Given the description of an element on the screen output the (x, y) to click on. 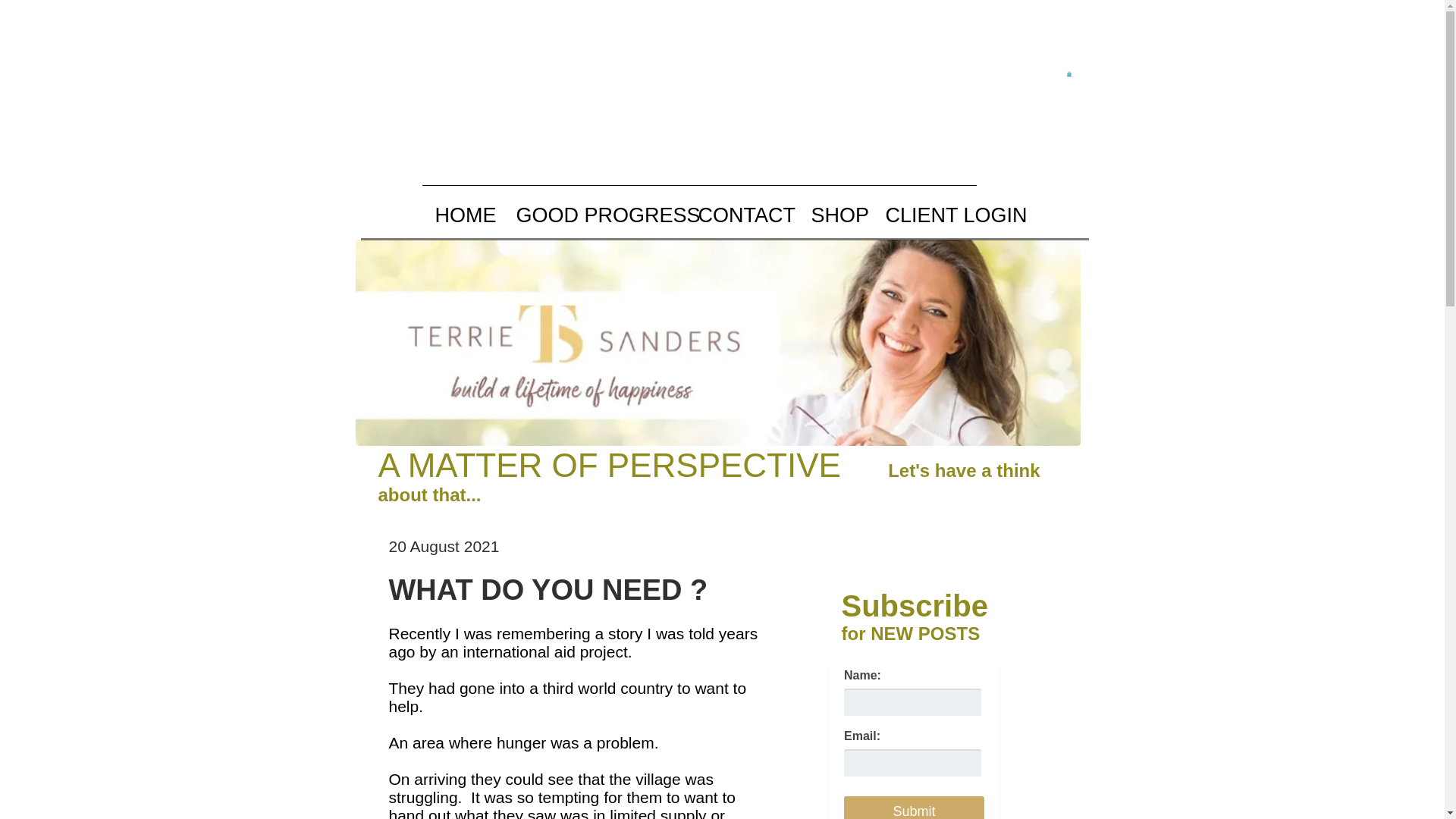
CONTACT (741, 215)
CLIENT LOGIN (949, 215)
Embedded Content (913, 737)
HOME (463, 215)
SHOP (836, 215)
GOOD PROGRESS (594, 215)
